Given the description of an element on the screen output the (x, y) to click on. 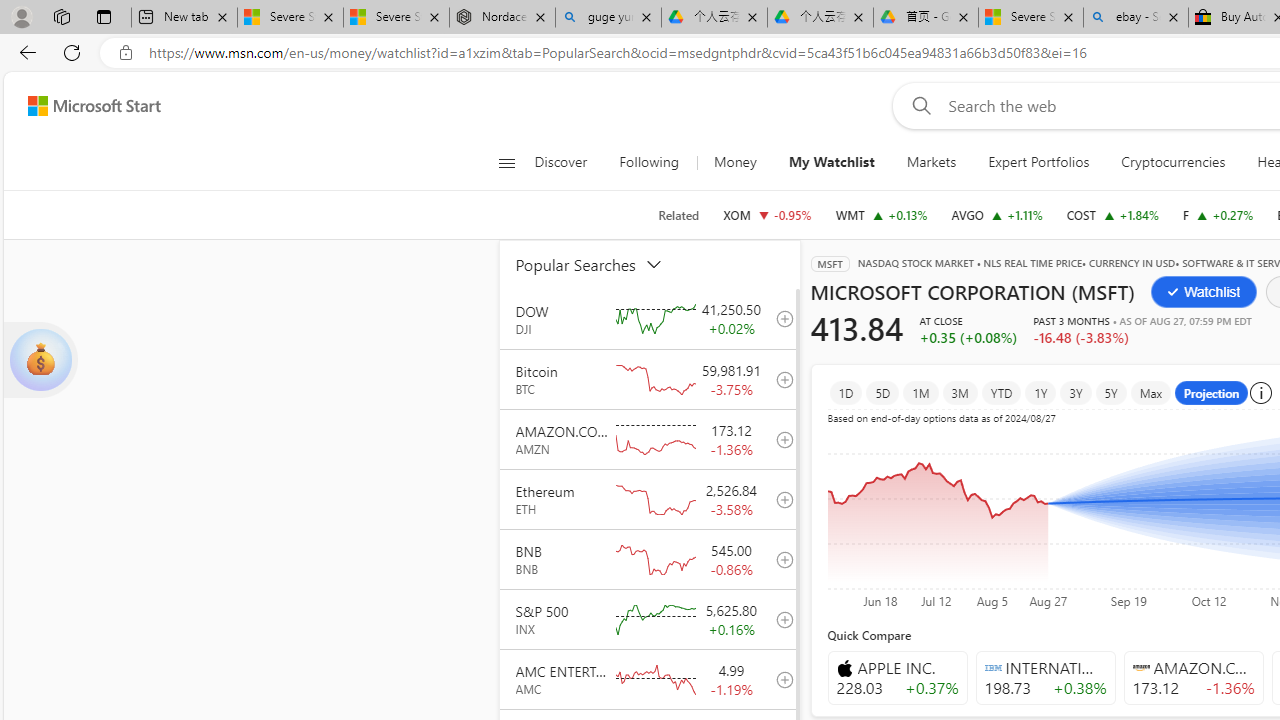
Max (1151, 392)
5D (882, 392)
Cryptocurrencies (1172, 162)
3Y (1075, 392)
guge yunpan - Search (607, 17)
1M (920, 392)
Expert Portfolios (1039, 162)
Watchlist (1204, 291)
